Given the description of an element on the screen output the (x, y) to click on. 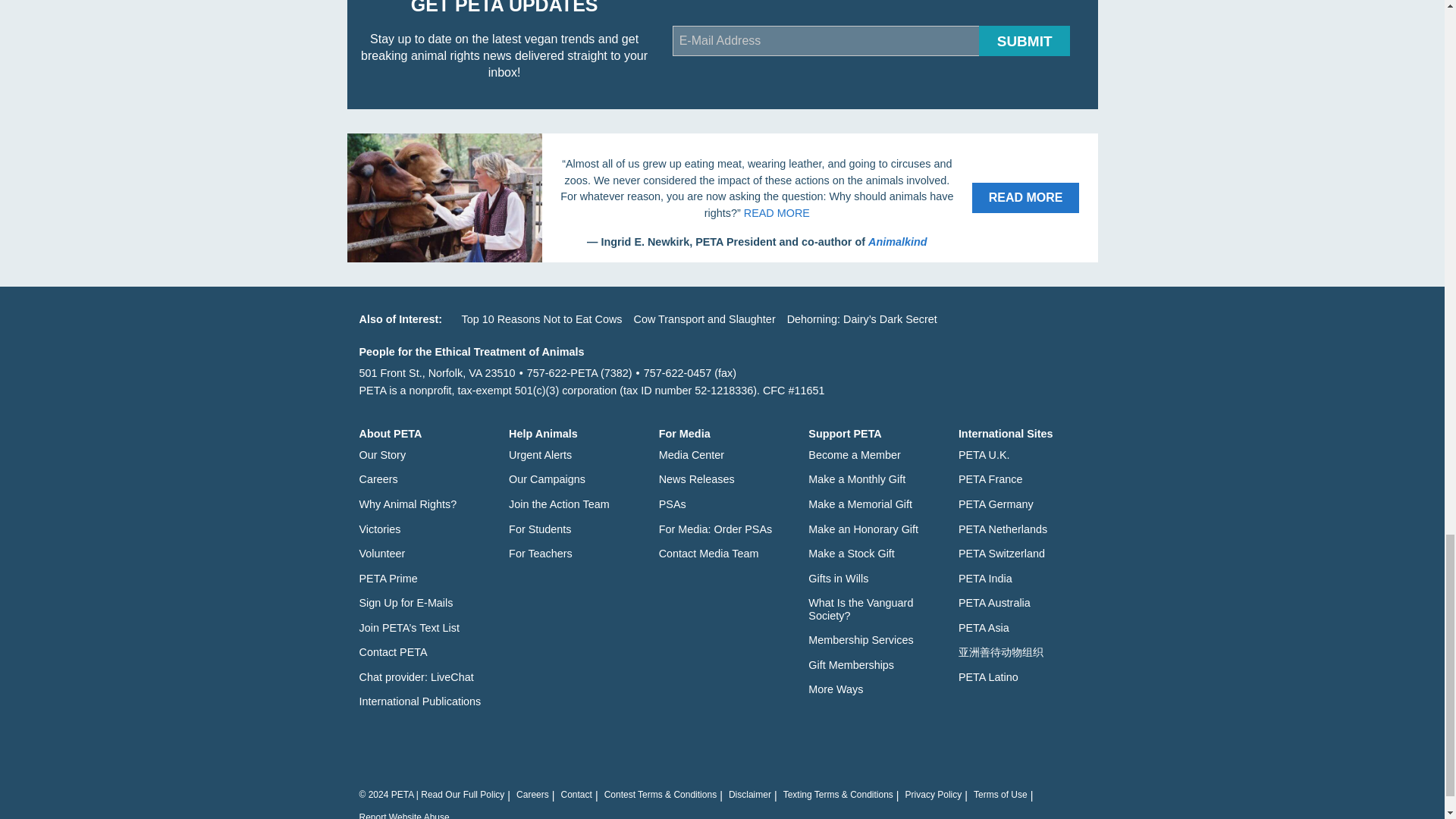
Submit (1024, 40)
